Given the description of an element on the screen output the (x, y) to click on. 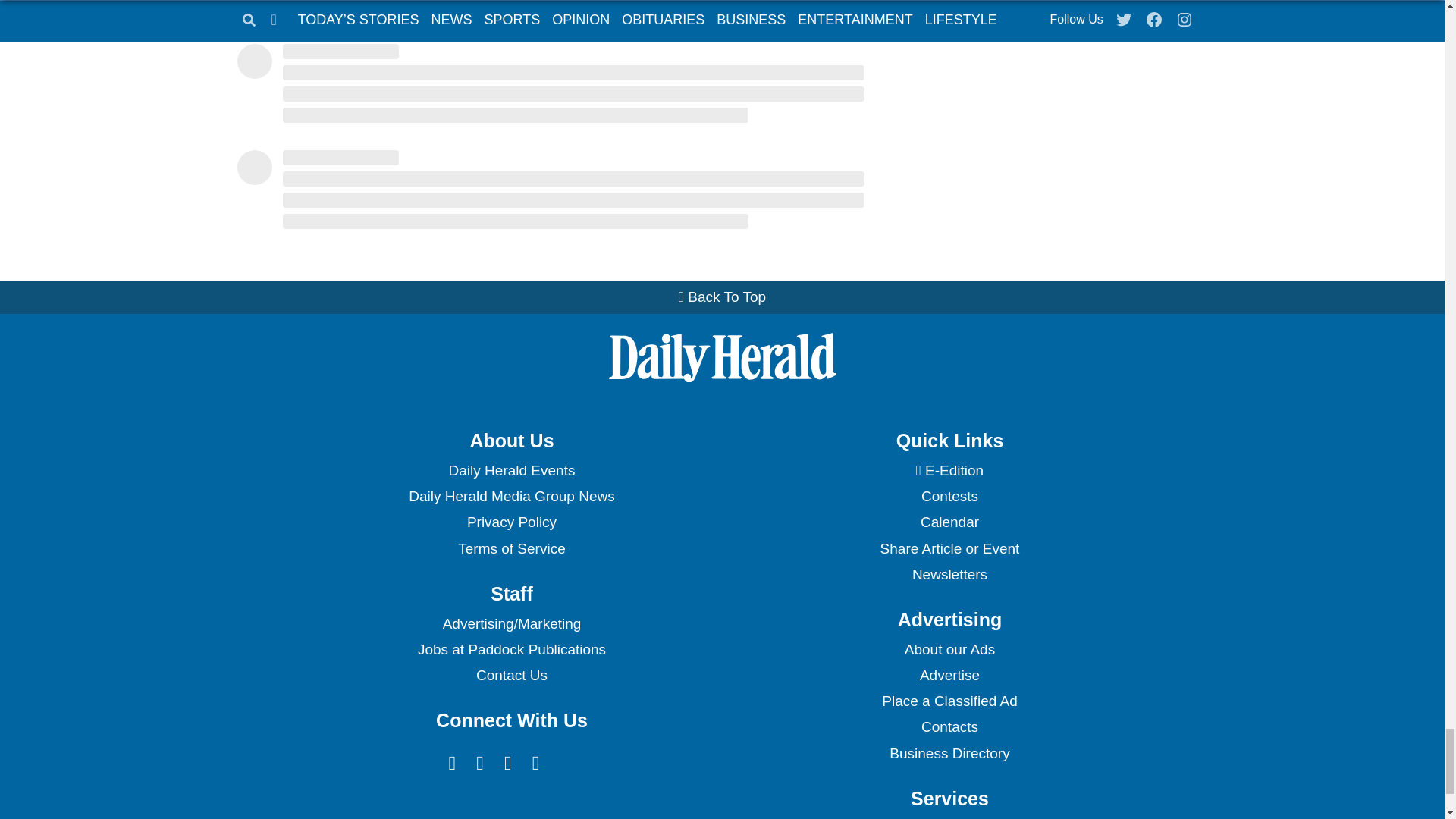
Terms of Service (511, 548)
Contests (949, 496)
Privacy Policy (511, 522)
Jobs at Paddock Publications (511, 649)
Daily Herald Events (511, 470)
Contact Us (511, 675)
Daily Herald Media Group News (511, 496)
Daily Herald Digital Newspaper (949, 470)
